Given the description of an element on the screen output the (x, y) to click on. 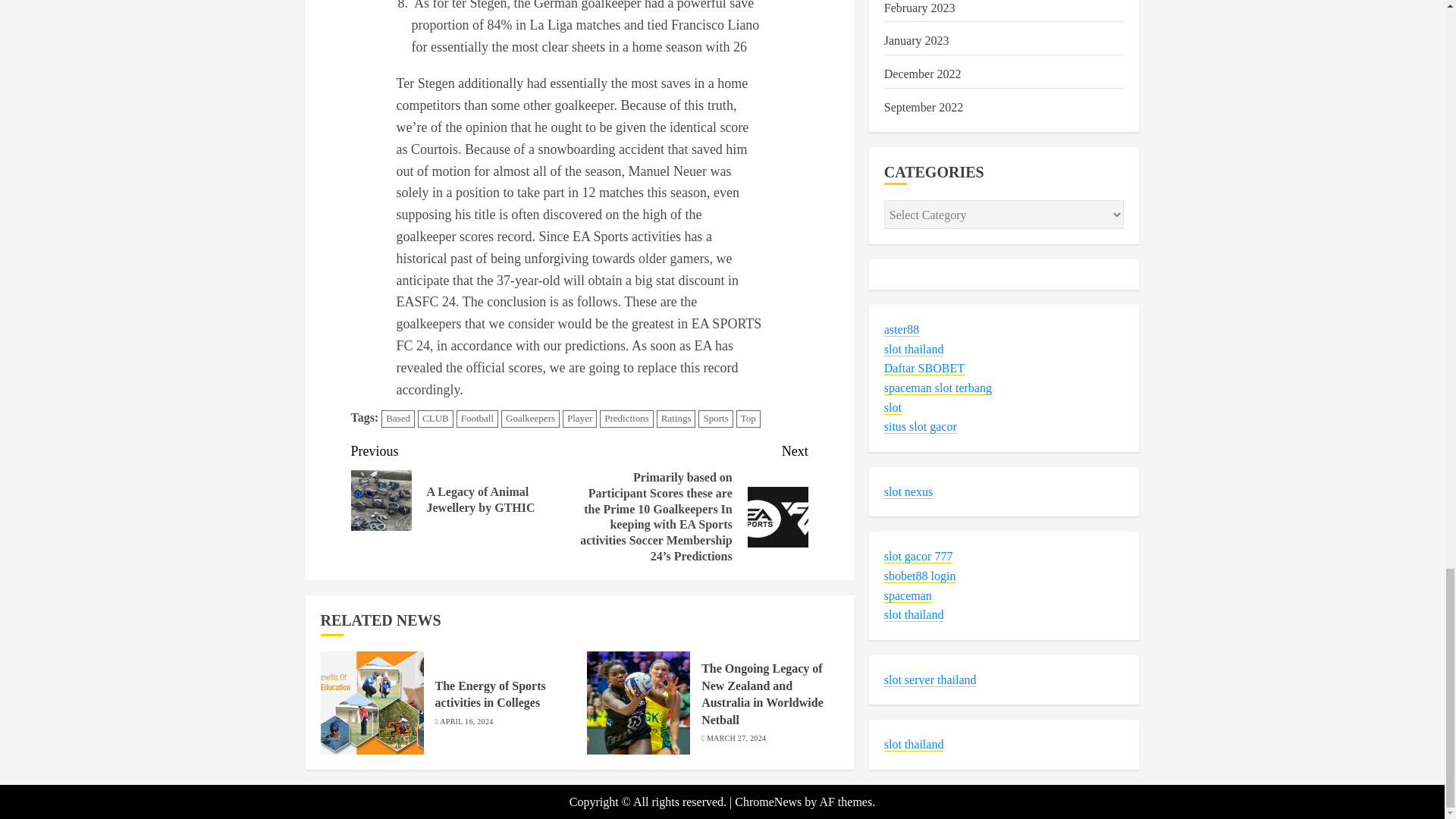
Top (748, 418)
Based (397, 418)
Player (579, 418)
The Energy of Sports activities in Colleges (371, 702)
Ratings (675, 418)
A Legacy of Animal Jewellery by GTHIC (380, 500)
Sports (715, 418)
CLUB (434, 418)
Goalkeepers (529, 418)
Football (477, 418)
Predictions (626, 418)
